Given the description of an element on the screen output the (x, y) to click on. 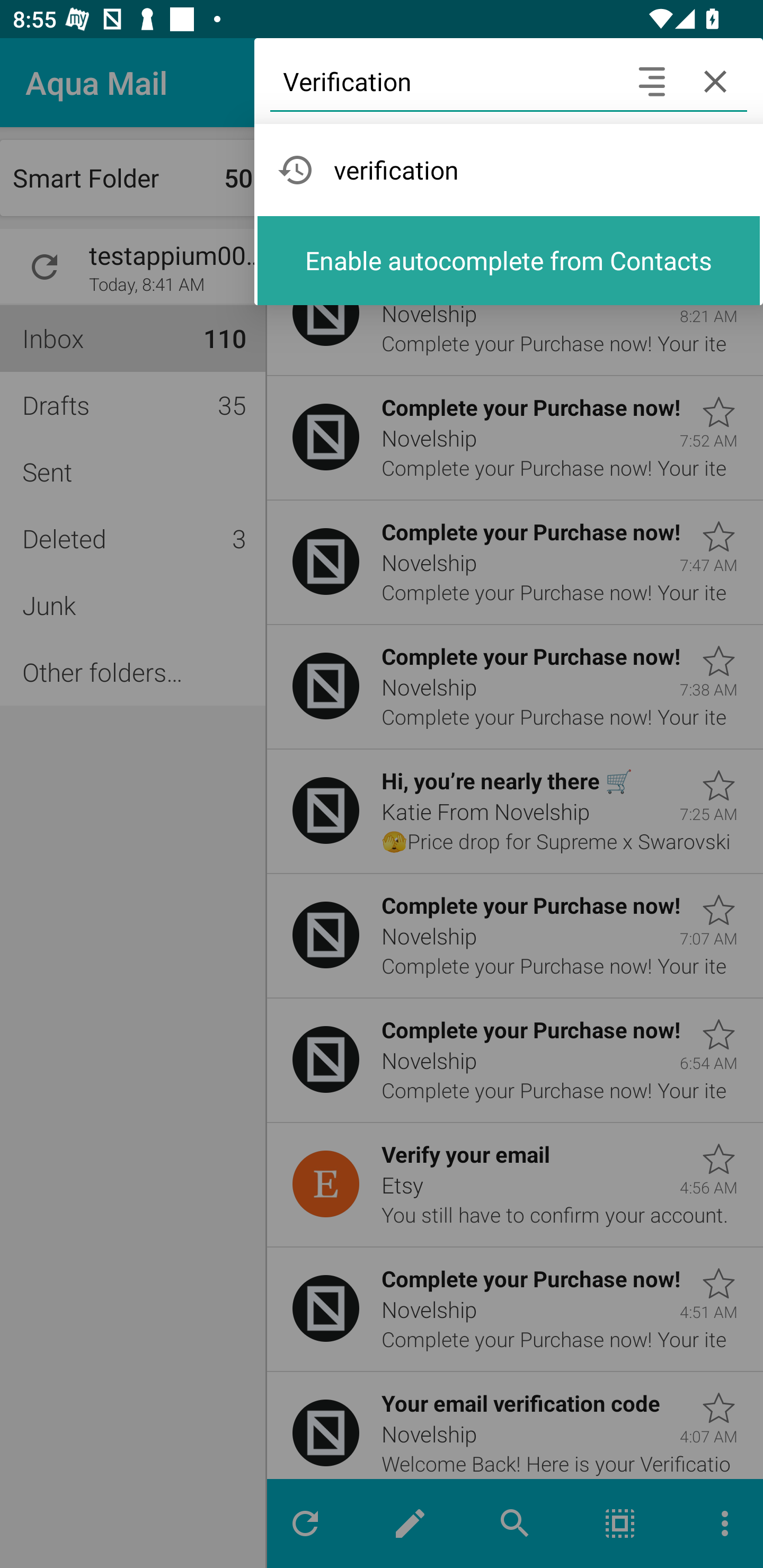
Verification (444, 81)
Search headers and text (651, 81)
Cancel (714, 81)
